Given the description of an element on the screen output the (x, y) to click on. 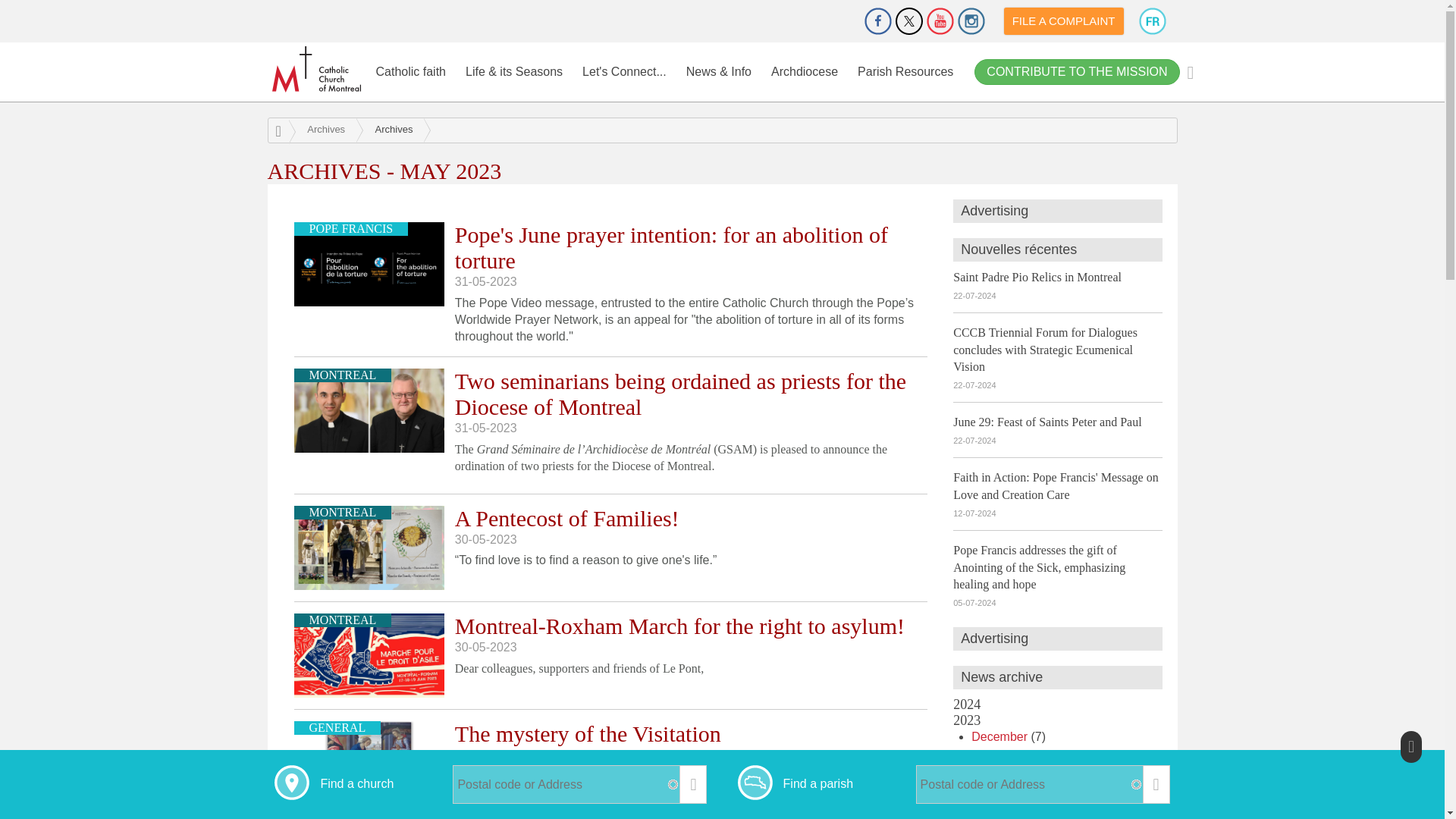
Facebook (877, 21)
Make a donation (835, 21)
Twitter (909, 21)
Home (316, 68)
Youtube (939, 21)
Instagram (971, 21)
File a complaint (1064, 21)
